Given the description of an element on the screen output the (x, y) to click on. 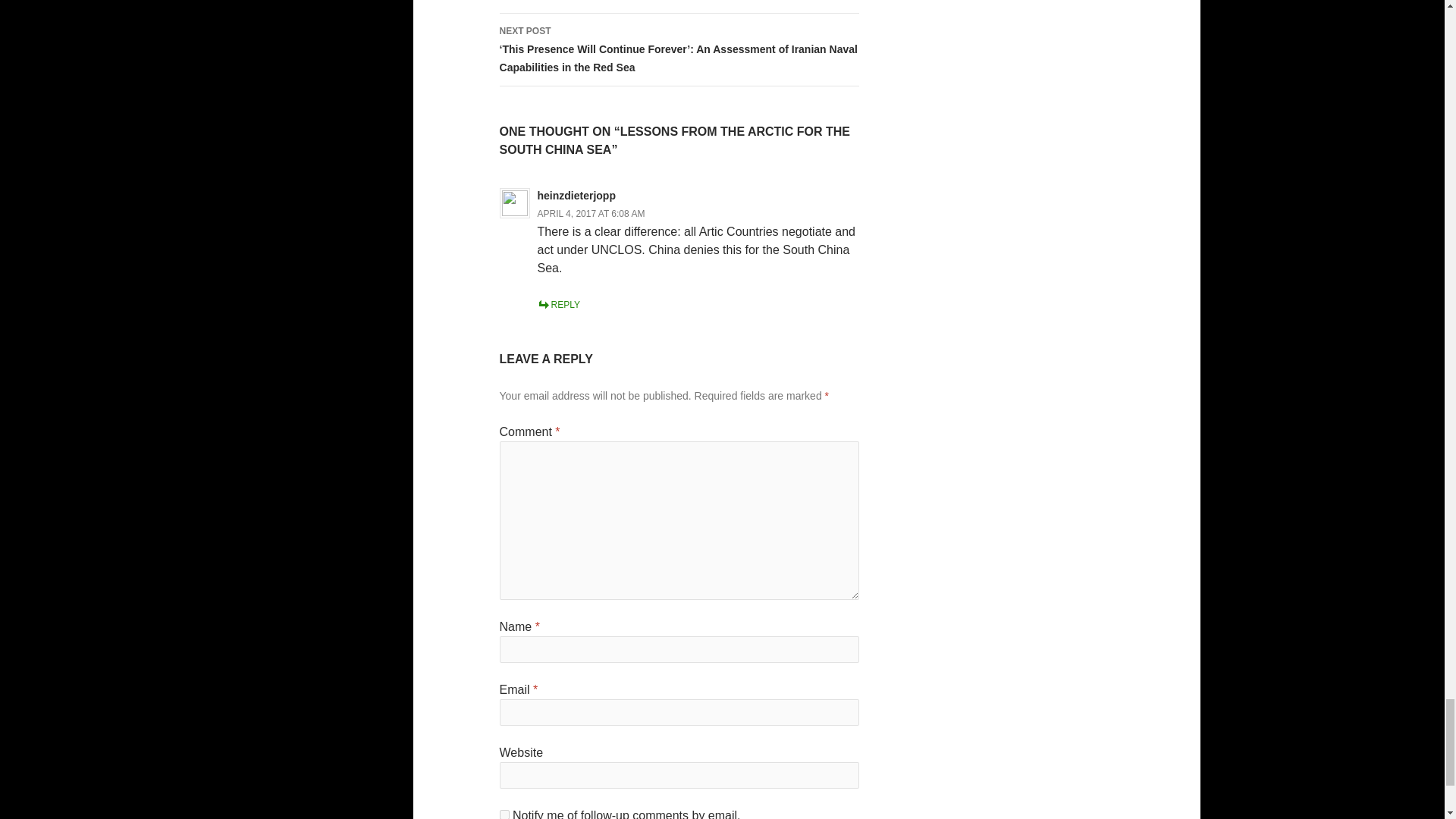
subscribe (504, 814)
